Given the description of an element on the screen output the (x, y) to click on. 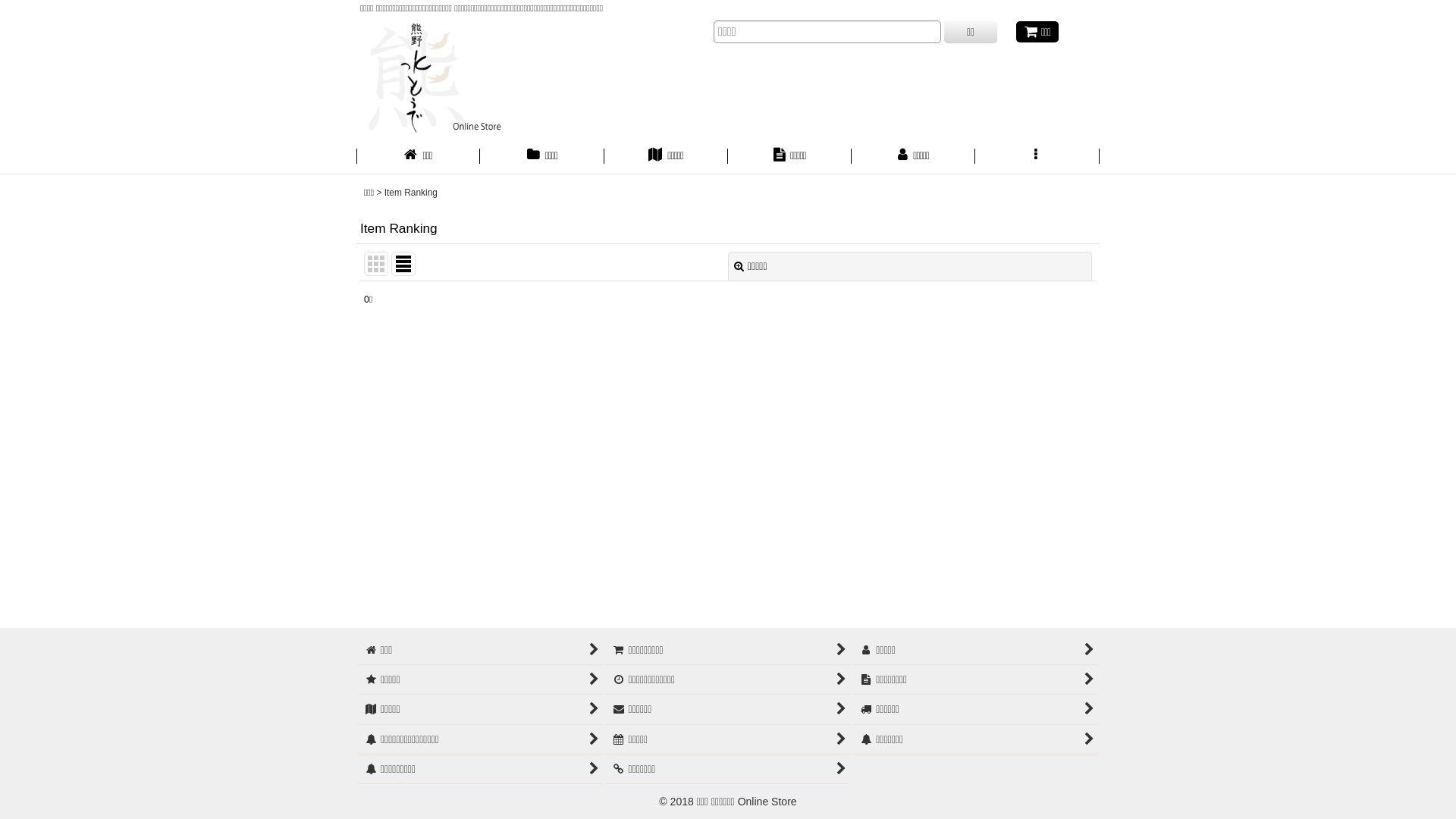
1 Element type: text (727, 305)
